Given the description of an element on the screen output the (x, y) to click on. 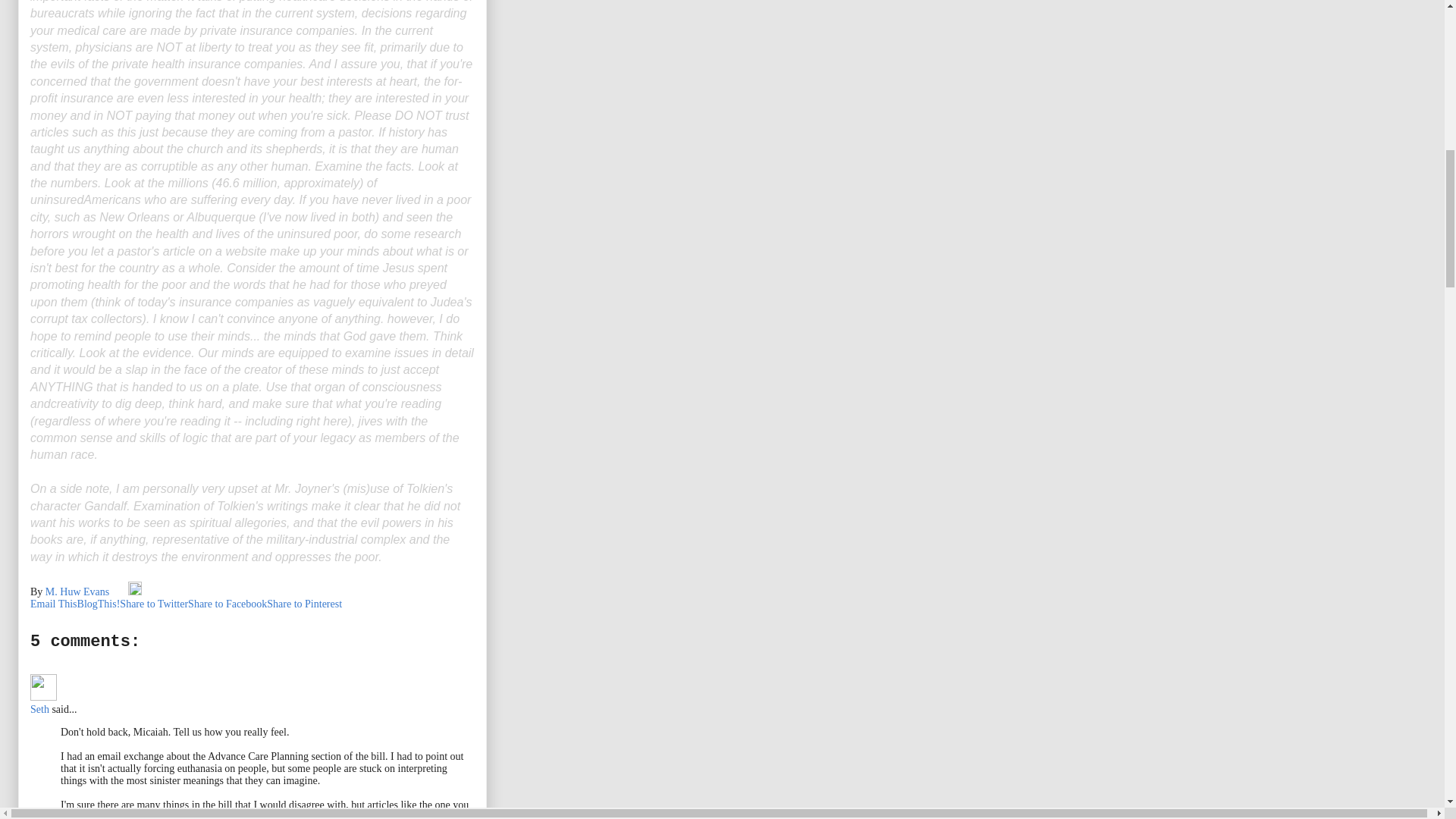
author profile (78, 591)
Email Post (120, 591)
Seth (43, 687)
Share to Twitter (153, 603)
Share to Facebook (226, 603)
Share to Pinterest (304, 603)
BlogThis! (98, 603)
Email This (53, 603)
M. Huw Evans (78, 591)
BlogThis! (98, 603)
Share to Twitter (153, 603)
Seth (39, 708)
Share to Pinterest (304, 603)
Share to Facebook (226, 603)
Edit Post (134, 591)
